Given the description of an element on the screen output the (x, y) to click on. 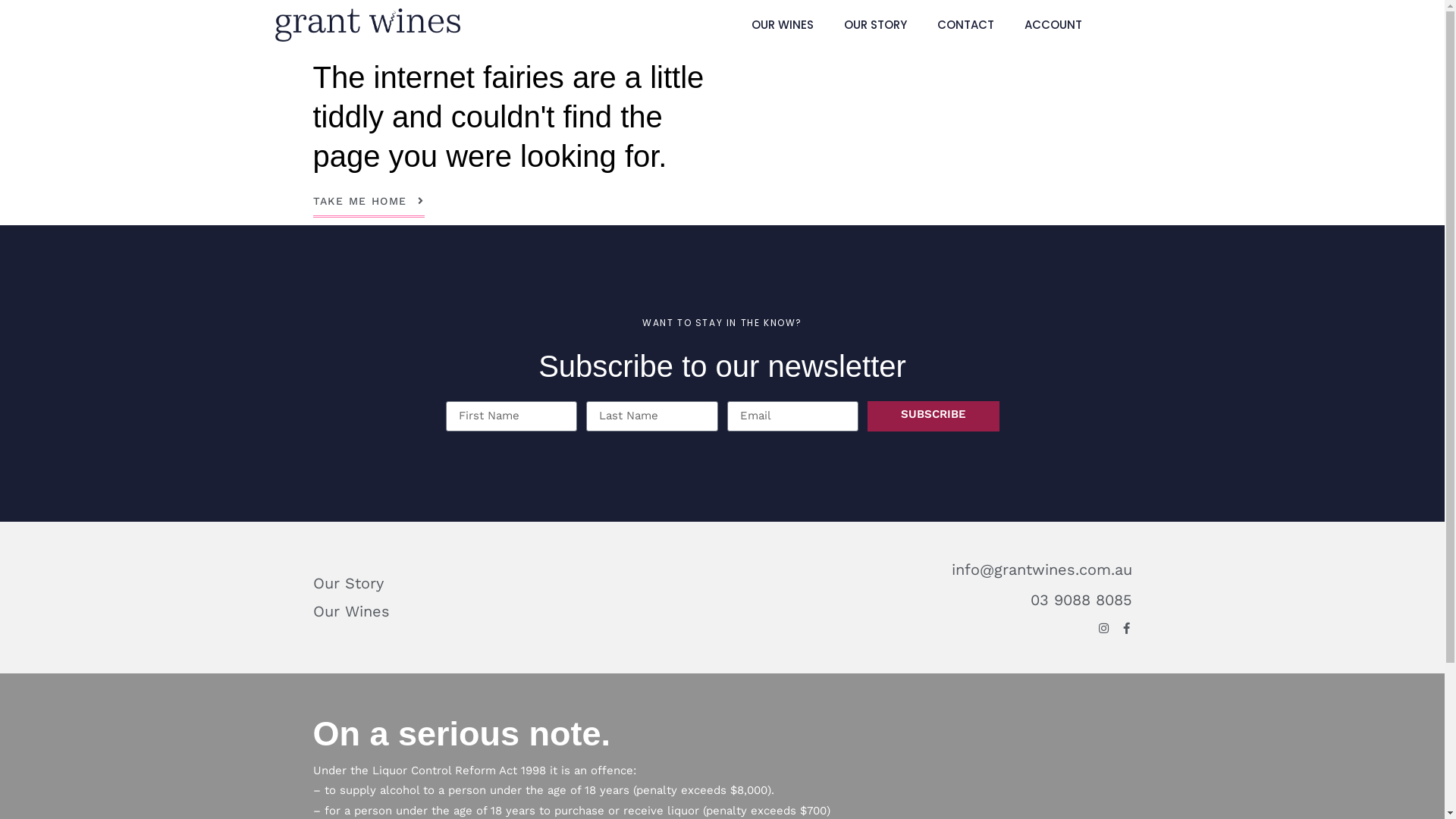
SUBSCRIBE Element type: text (933, 416)
TAKE ME HOME Element type: text (367, 206)
Our Story Element type: text (513, 583)
OUR STORY Element type: text (874, 24)
Our Wines Element type: text (513, 611)
03 9088 8085 Element type: text (1080, 598)
info@grantwines.com.au Element type: text (1040, 568)
ACCOUNT Element type: text (1052, 24)
OUR WINES Element type: text (781, 24)
CONTACT Element type: text (965, 24)
